Given the description of an element on the screen output the (x, y) to click on. 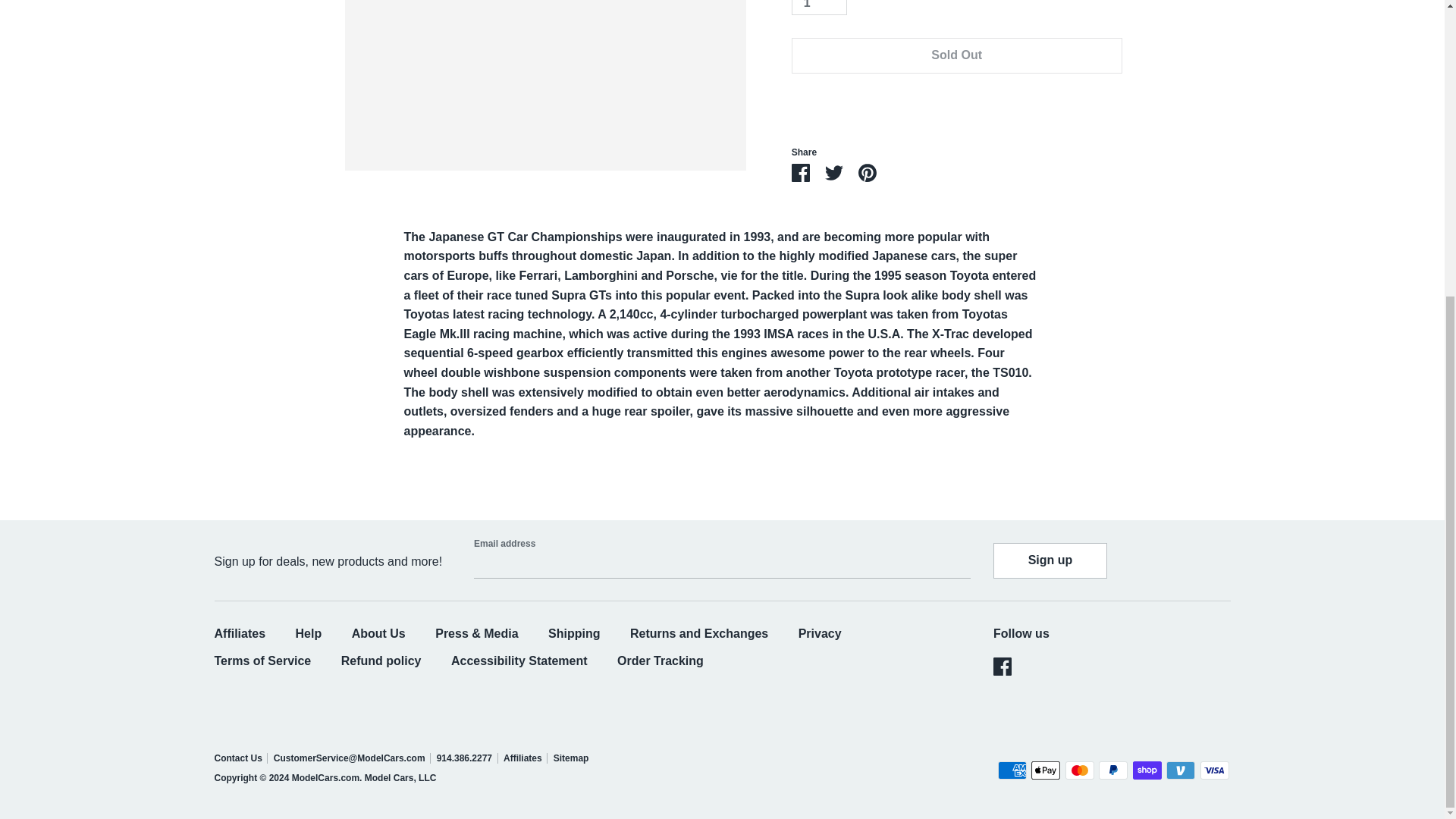
American Express (1011, 770)
PayPal (1112, 770)
Mastercard (1079, 770)
Shop Pay (1146, 770)
Apple Pay (1044, 770)
